Given the description of an element on the screen output the (x, y) to click on. 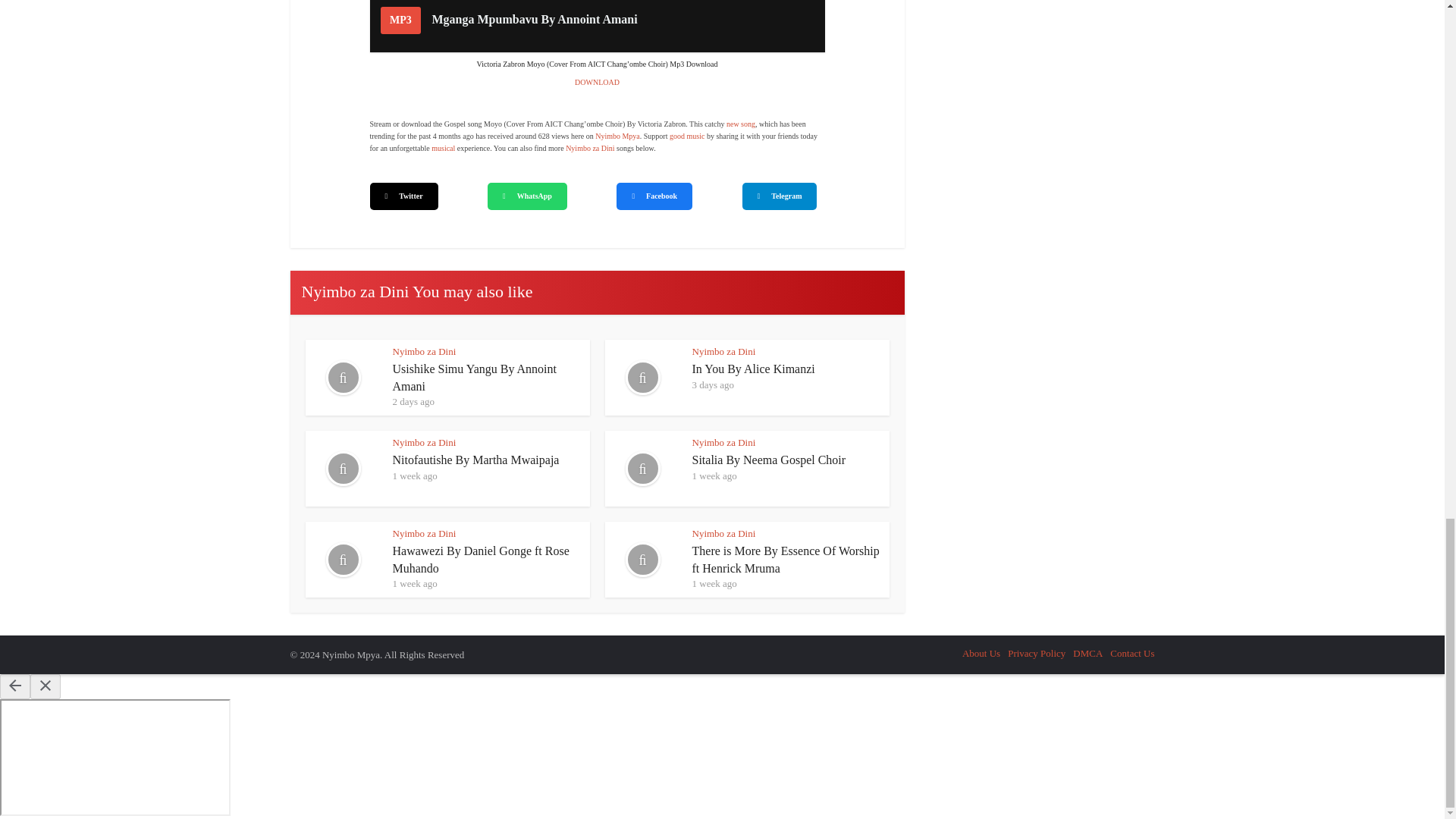
Nitofautishe By Martha Mwaipaja (476, 459)
In You By Alice Kimanzi (752, 368)
musical (442, 148)
Nyimbo Mpya (617, 135)
Nitofautishe By Martha Mwaipaja 4 (342, 468)
good music (686, 135)
DOWNLOAD (597, 81)
Nyimbo za Dini (590, 148)
Usishike Simu Yangu By Annoint Amani (474, 377)
new song (740, 123)
Twitter (403, 195)
Sitalia By Neema Gospel Choir (768, 459)
Nyimbo za Dini (425, 351)
Facebook (654, 195)
Usishike Simu Yangu By Annoint Amani 2 (342, 377)
